Given the description of an element on the screen output the (x, y) to click on. 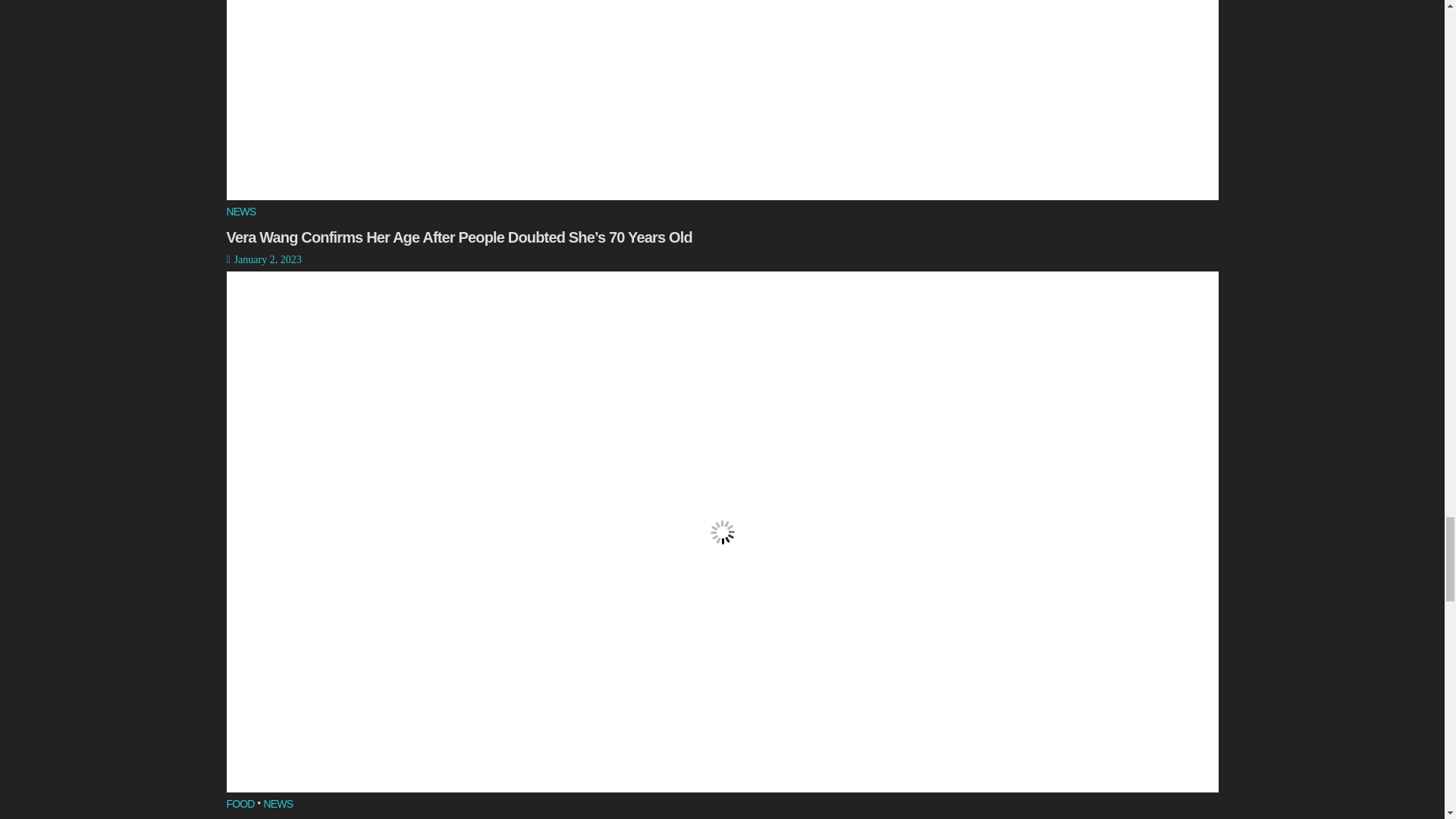
NEWS (240, 212)
FOOD (239, 805)
NEWS (278, 805)
